Given the description of an element on the screen output the (x, y) to click on. 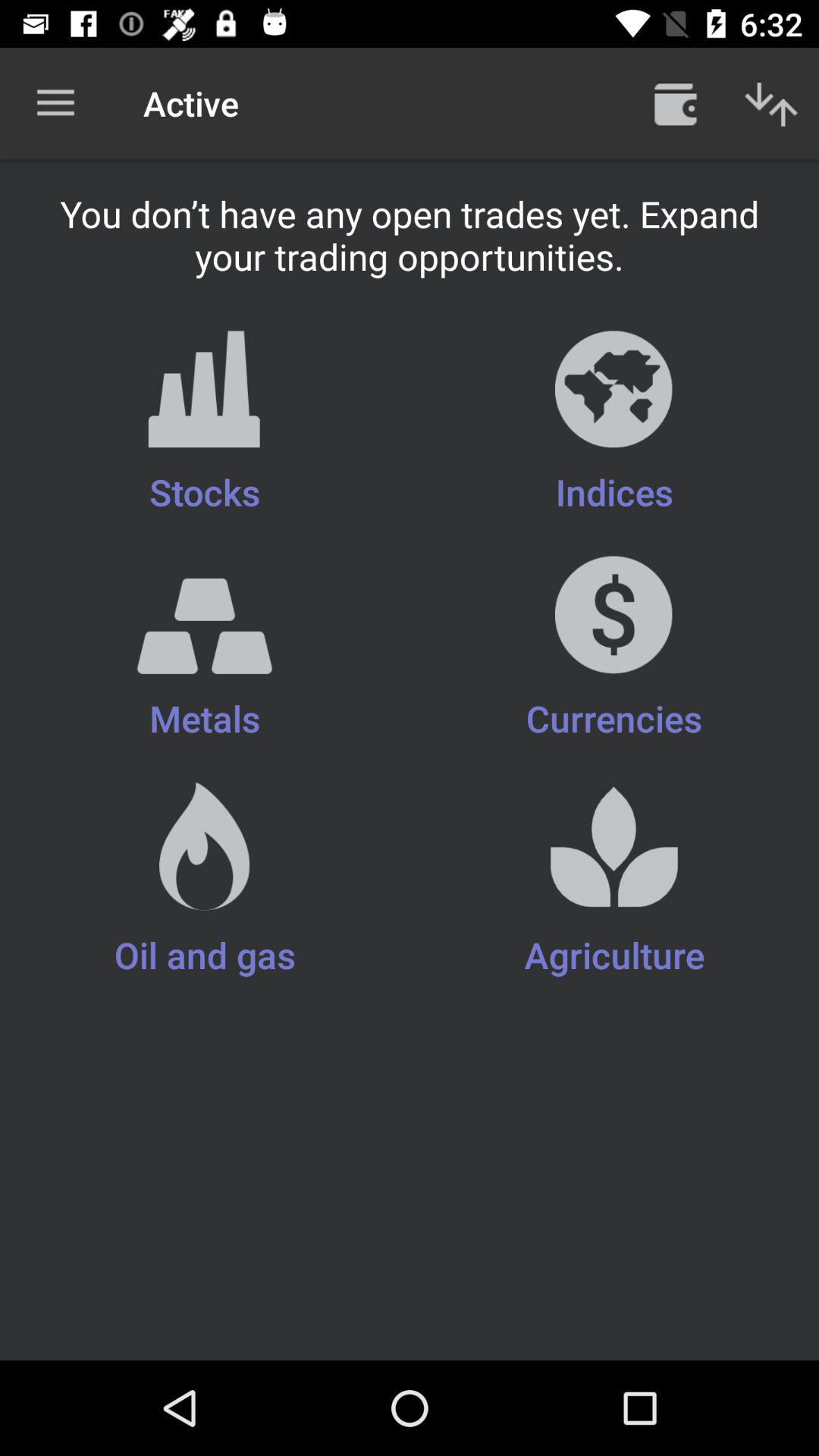
turn off currencies (614, 649)
